Given the description of an element on the screen output the (x, y) to click on. 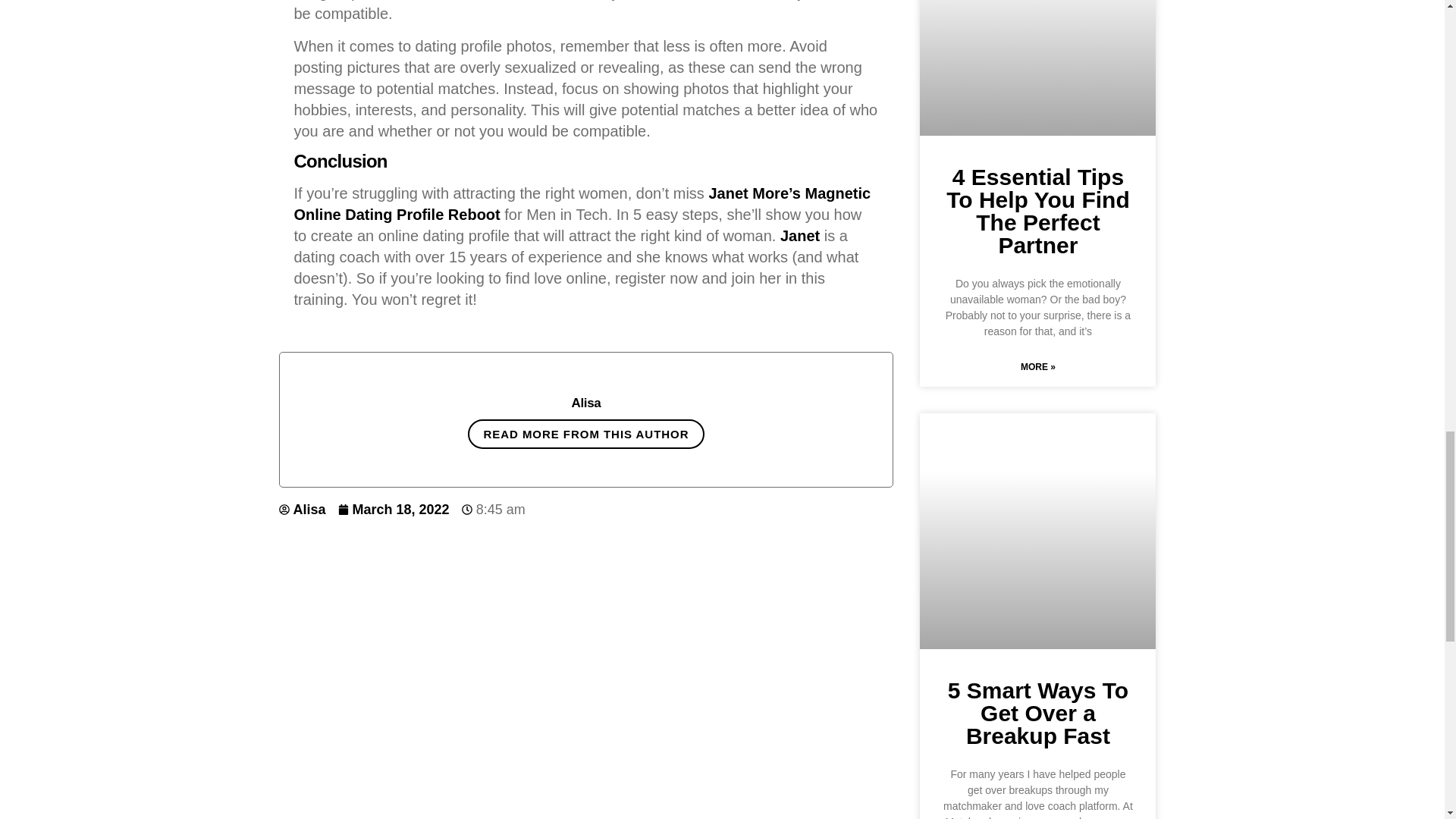
4 Essential Tips To Help You Find The Perfect Partner (1037, 210)
5 Smart Ways To Get Over a Breakup Fast (1037, 713)
Janet (799, 235)
March 18, 2022 (393, 509)
Alisa (302, 509)
Alisa (585, 402)
READ MORE FROM THIS AUTHOR (585, 433)
